Given the description of an element on the screen output the (x, y) to click on. 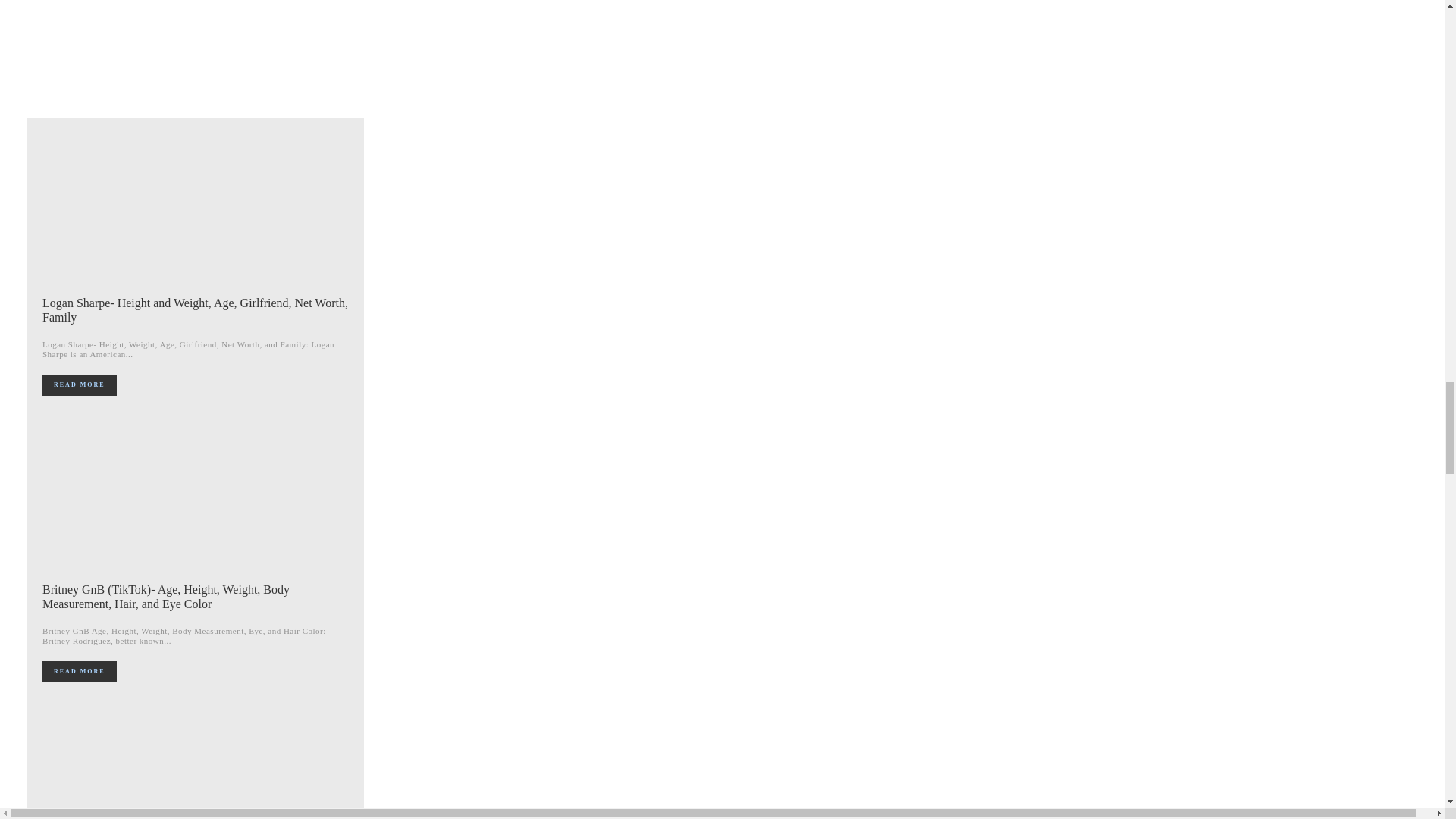
Read more (79, 671)
Read more (79, 384)
